Given the description of an element on the screen output the (x, y) to click on. 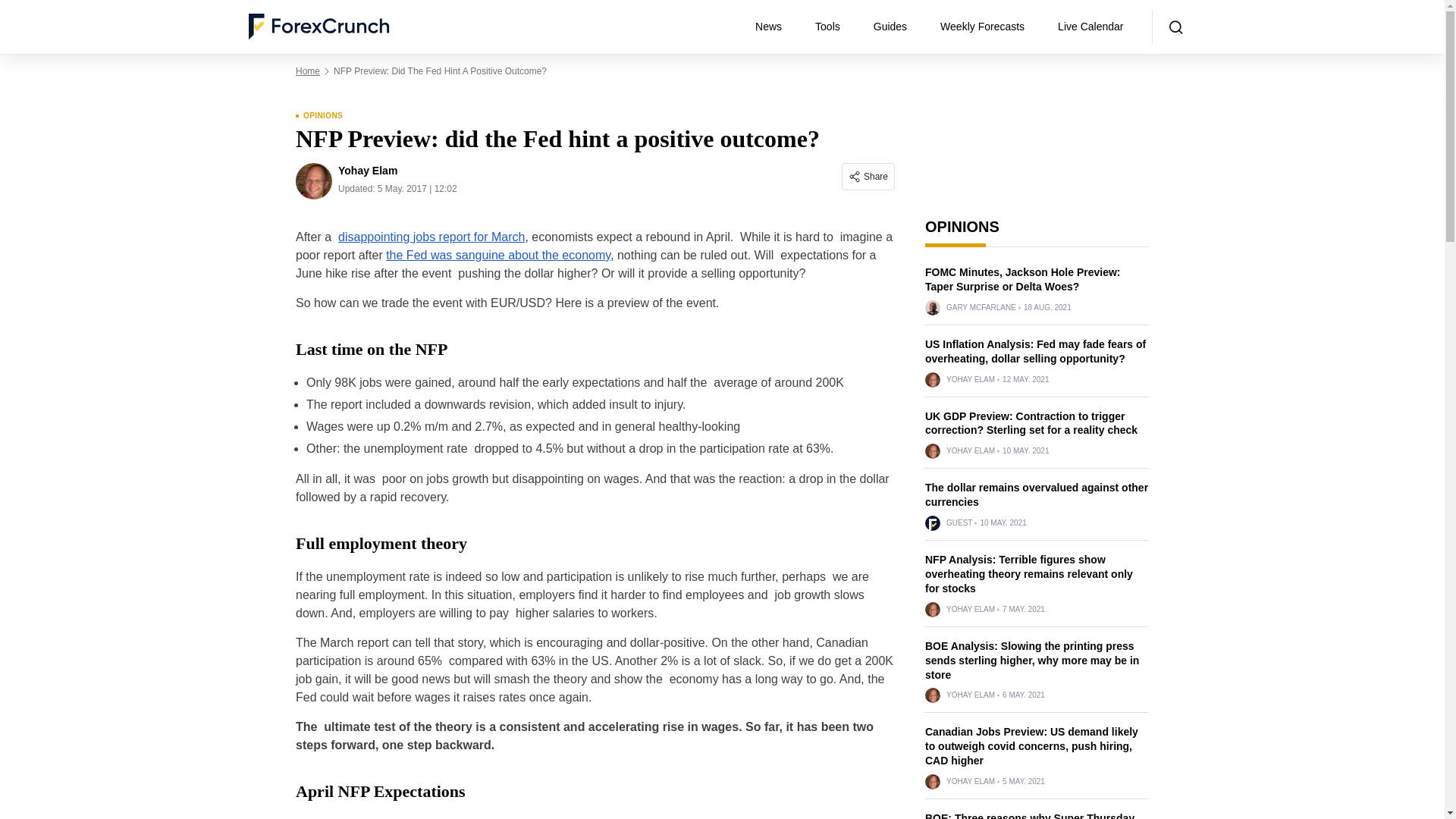
Forex News (774, 27)
Tools (834, 27)
News (774, 27)
Guides (896, 27)
